Given the description of an element on the screen output the (x, y) to click on. 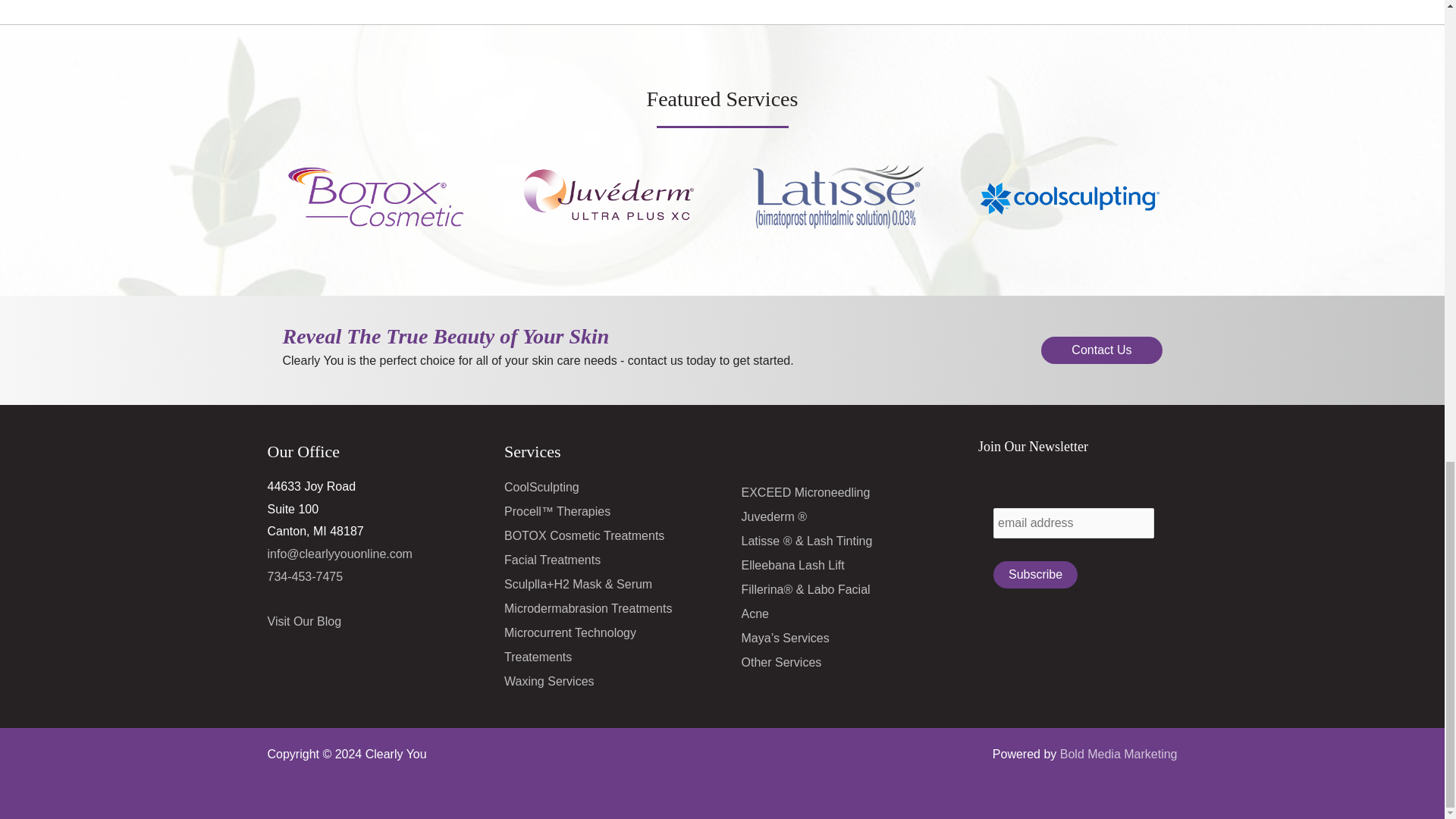
latisse (837, 196)
Subscribe (1034, 574)
coolsculpting (1068, 196)
botox (374, 196)
juvederm (606, 196)
